Given the description of an element on the screen output the (x, y) to click on. 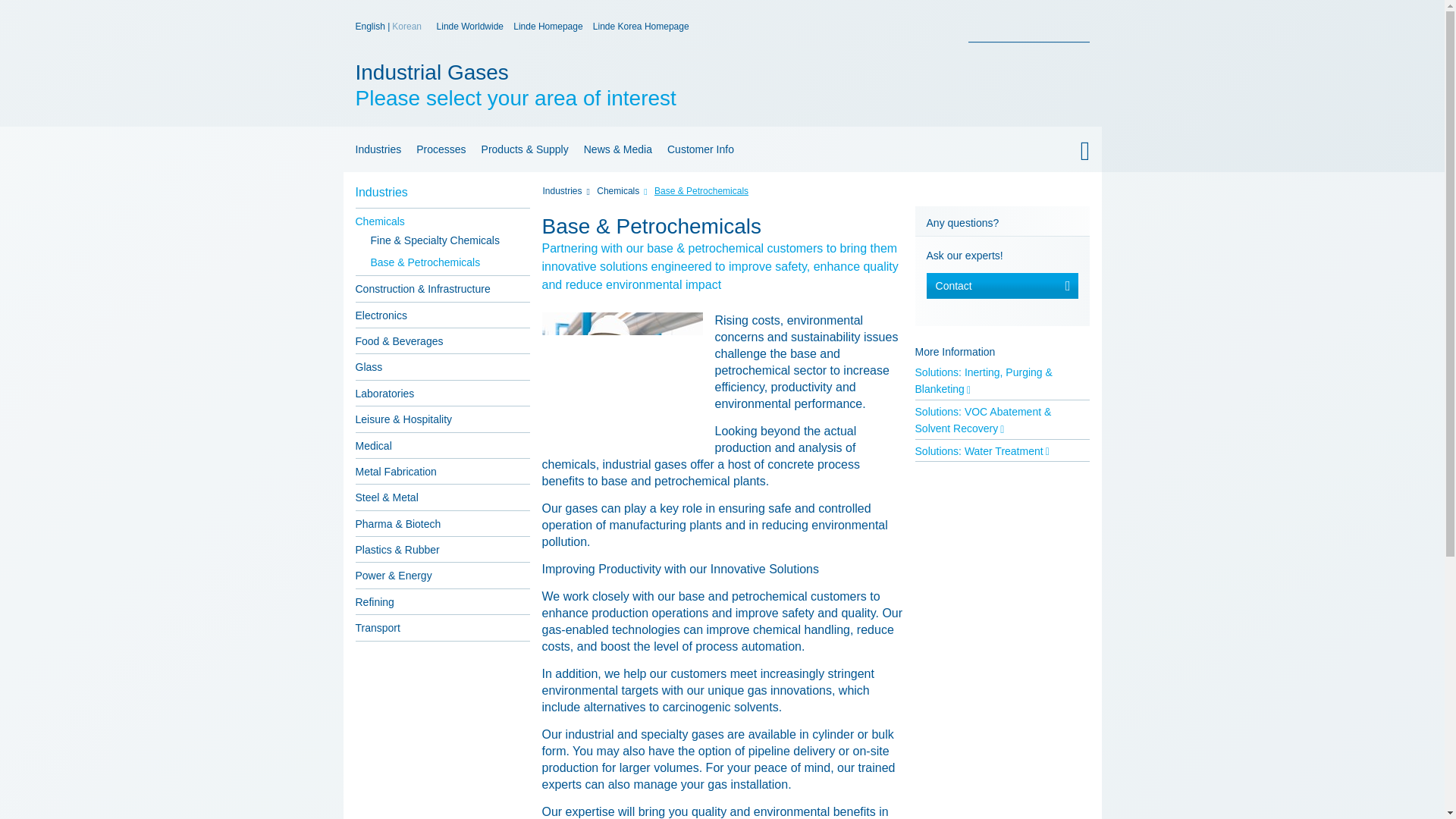
Industries (375, 148)
Linde Korea Homepage (640, 26)
Linde Worldwide (469, 26)
English  (371, 26)
Chemicals (721, 194)
Linde Homepage (547, 26)
Korean  (574, 84)
